Given the description of an element on the screen output the (x, y) to click on. 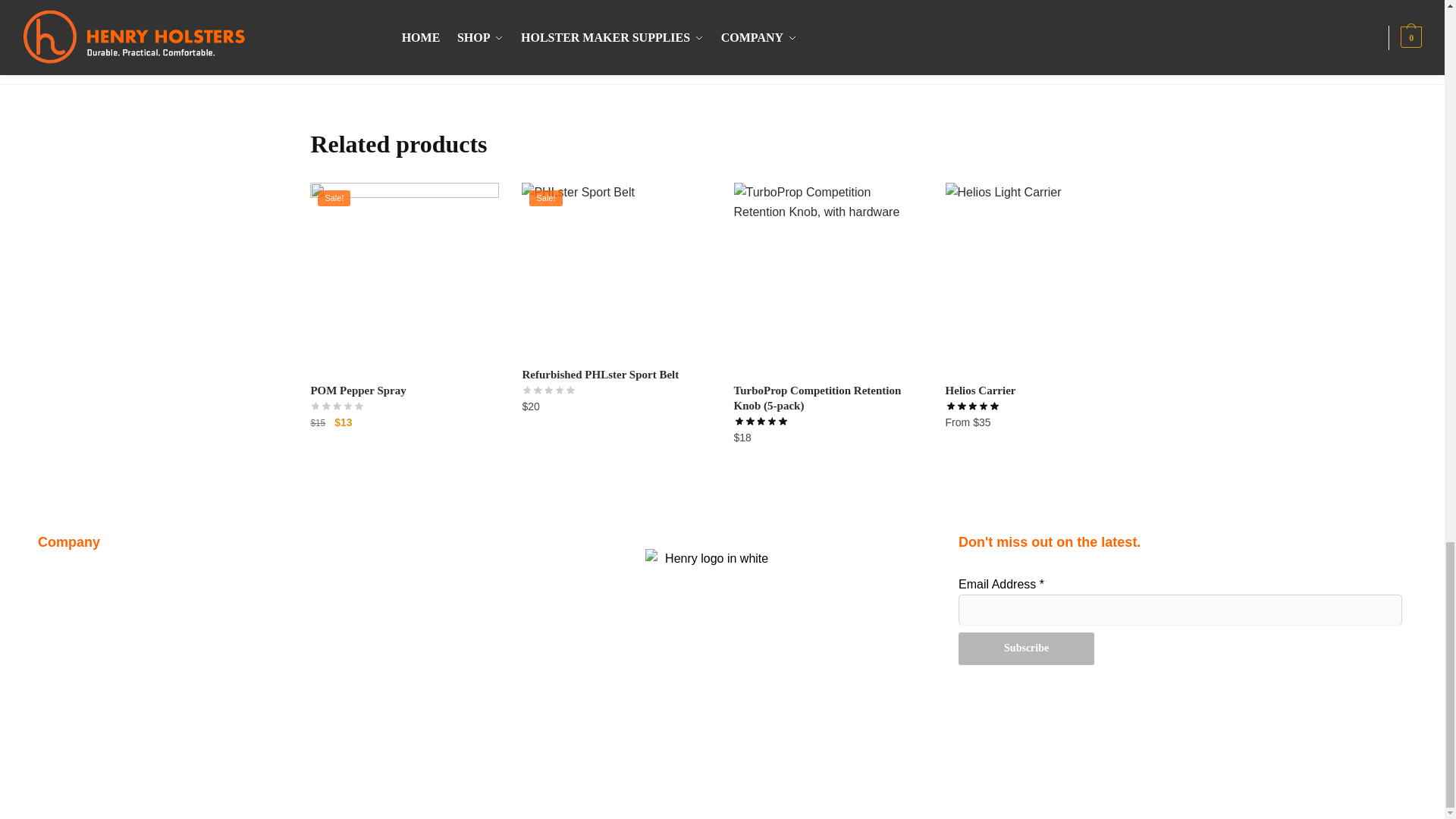
Subscribe (1026, 648)
